Given the description of an element on the screen output the (x, y) to click on. 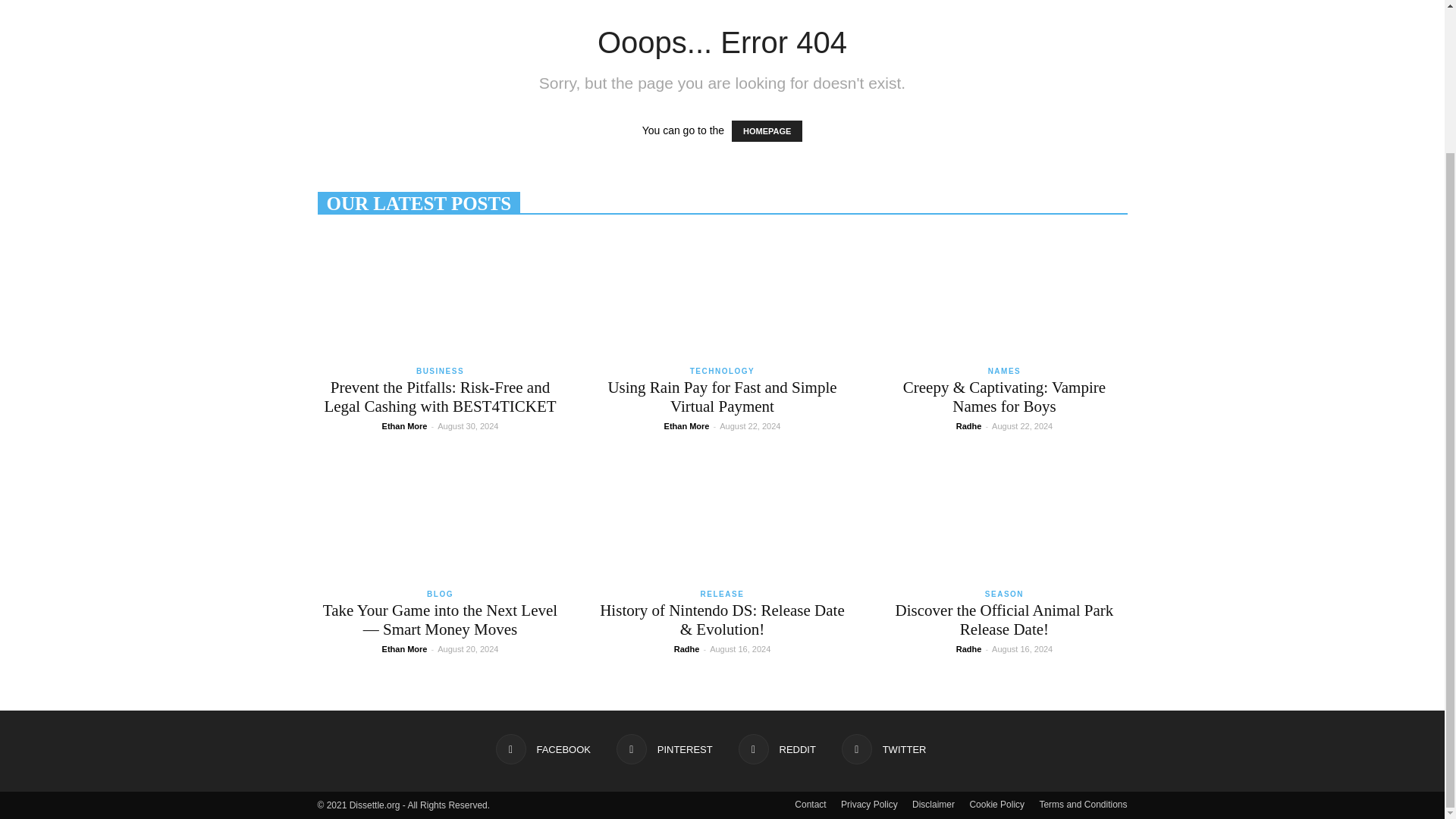
Using Rain Pay for Fast and Simple Virtual Payment (721, 396)
Using Rain Pay for Fast and Simple Virtual Payment (721, 294)
